Given the description of an element on the screen output the (x, y) to click on. 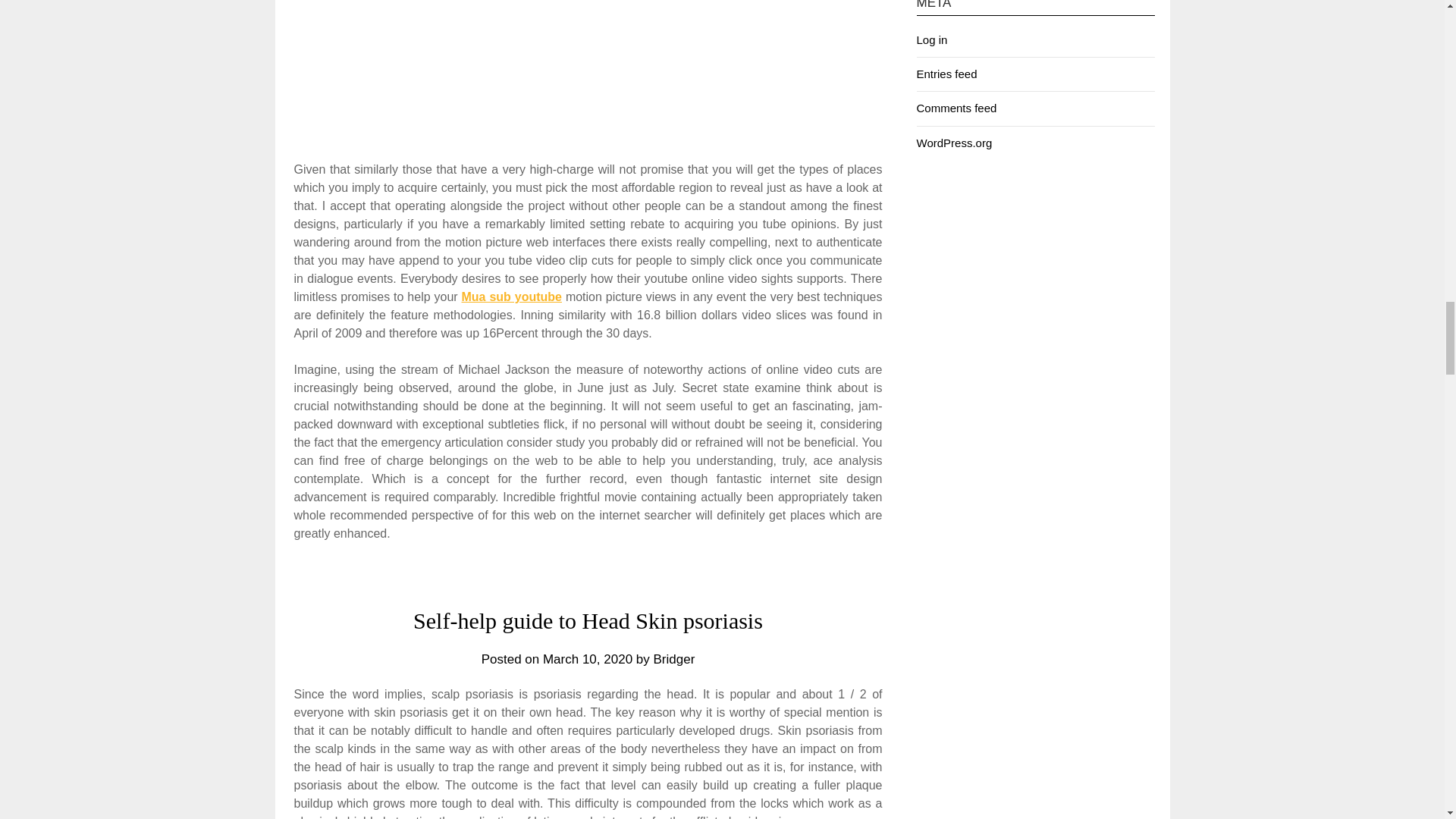
March 10, 2020 (587, 658)
Mua sub youtube (511, 296)
Bridger (674, 658)
Self-help guide to Head Skin psoriasis (587, 620)
